Given the description of an element on the screen output the (x, y) to click on. 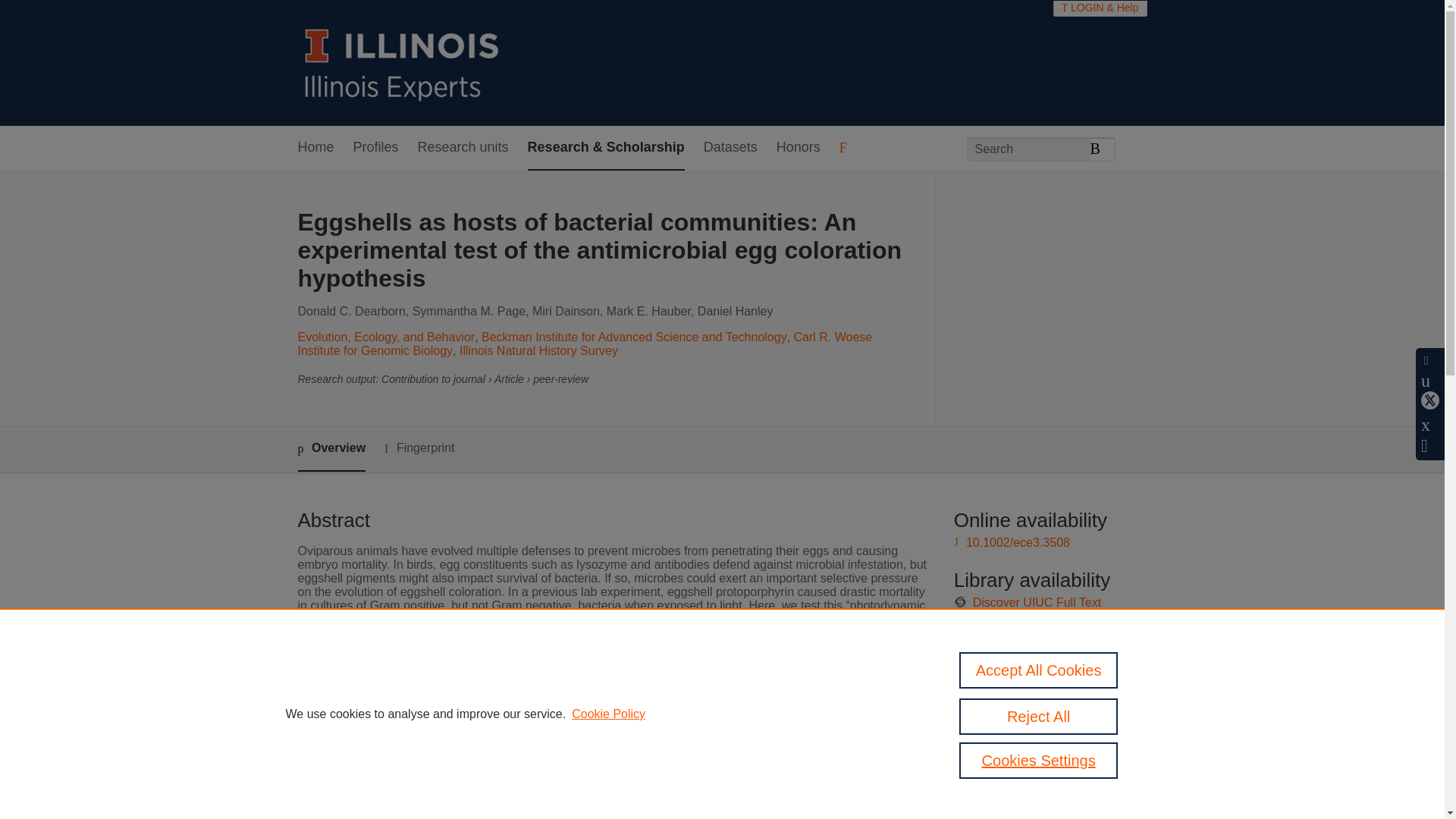
Datasets (730, 148)
Research units (462, 148)
Honors (798, 148)
Beckman Institute for Advanced Science and Technology (634, 336)
Evolution, Ecology, and Behavior (385, 336)
Profiles (375, 148)
Overview (331, 448)
University of Illinois Urbana-Champaign Home (402, 62)
Link to the citations in Scopus (1048, 679)
Fingerprint (419, 448)
